Given the description of an element on the screen output the (x, y) to click on. 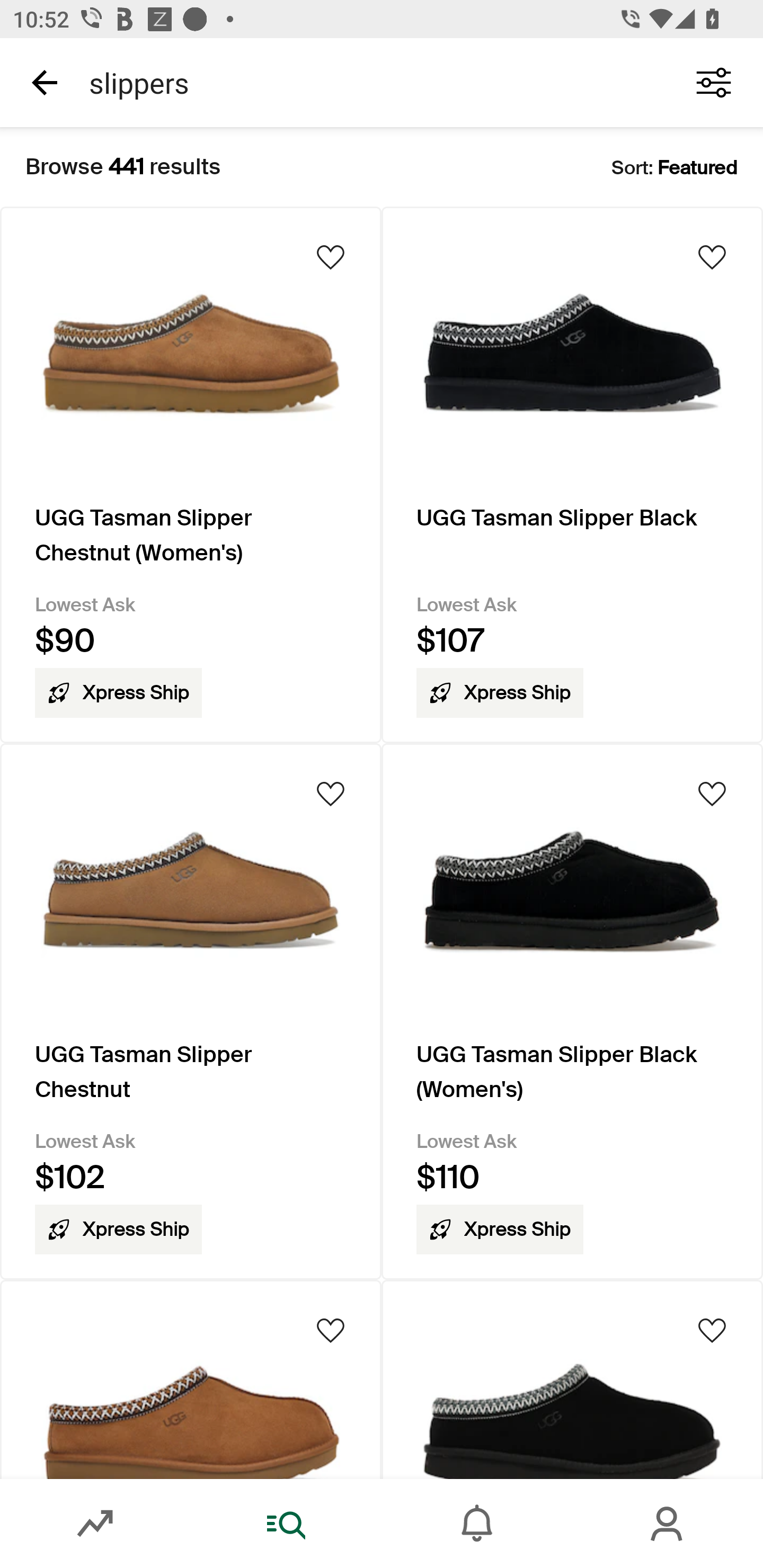
slippers (370, 82)
Product Image (190, 1378)
Product Image (572, 1378)
Market (95, 1523)
Inbox (476, 1523)
Account (667, 1523)
